Given the description of an element on the screen output the (x, y) to click on. 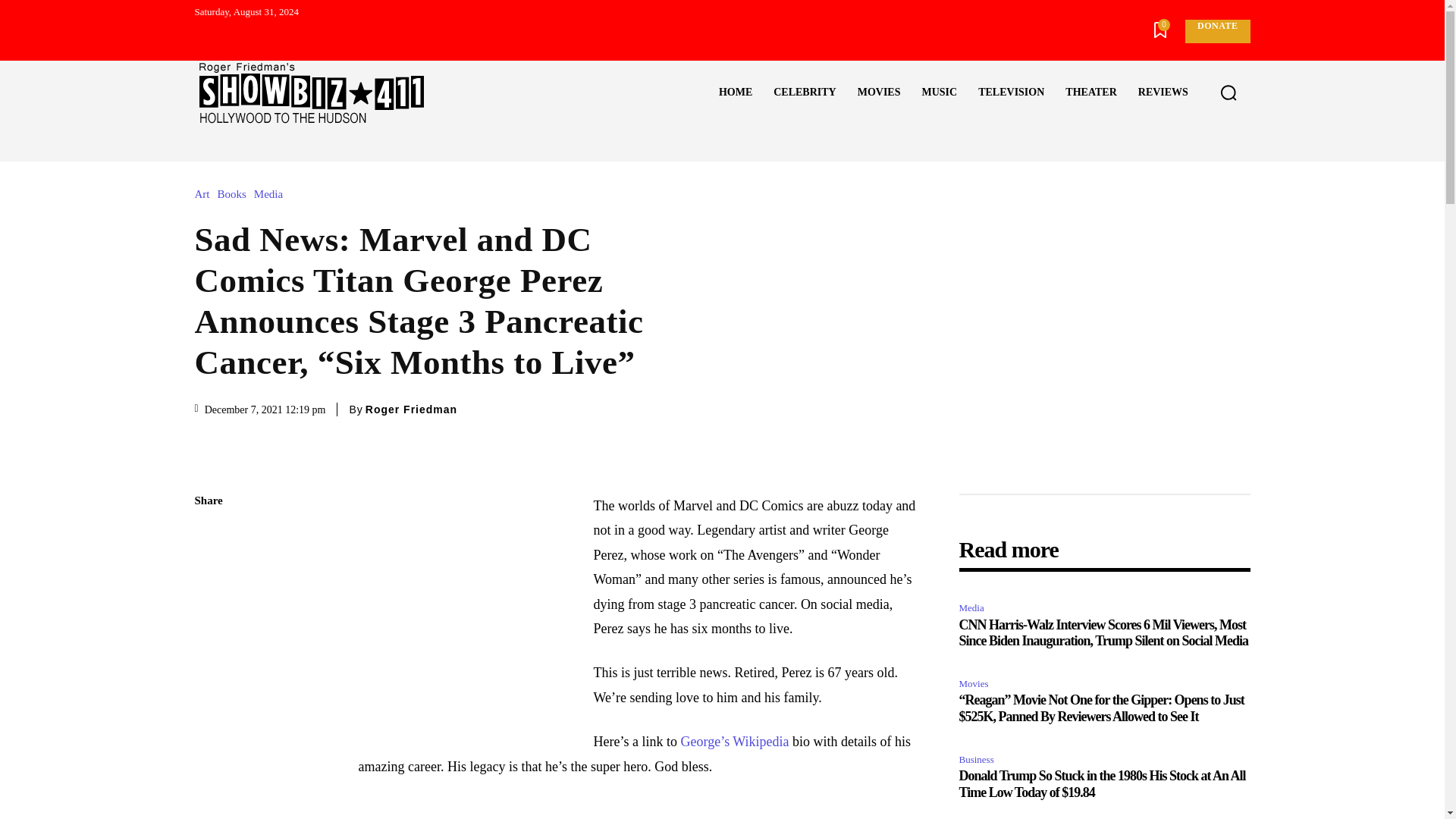
CELEBRITY (803, 92)
MUSIC (939, 92)
Donate (1217, 31)
THEATER (1090, 92)
TELEVISION (1011, 92)
MOVIES (879, 92)
DONATE (1217, 31)
HOME (734, 92)
REVIEWS (1162, 92)
Art (204, 194)
